Given the description of an element on the screen output the (x, y) to click on. 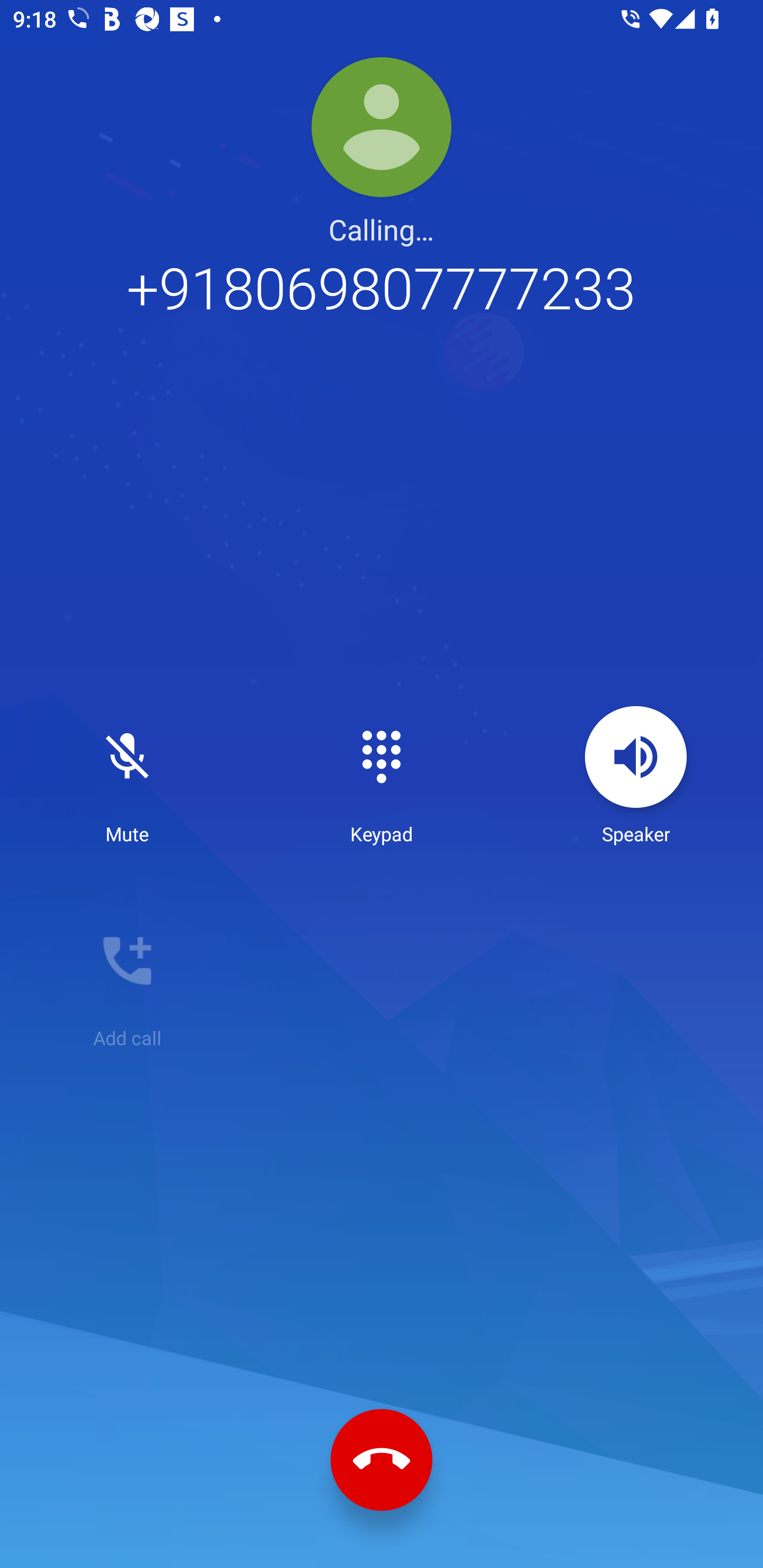
Unmuted Mute (127, 775)
Keypad (381, 775)
Speaker, is on Speaker (635, 775)
Add call (127, 979)
End call (381, 1460)
